Given the description of an element on the screen output the (x, y) to click on. 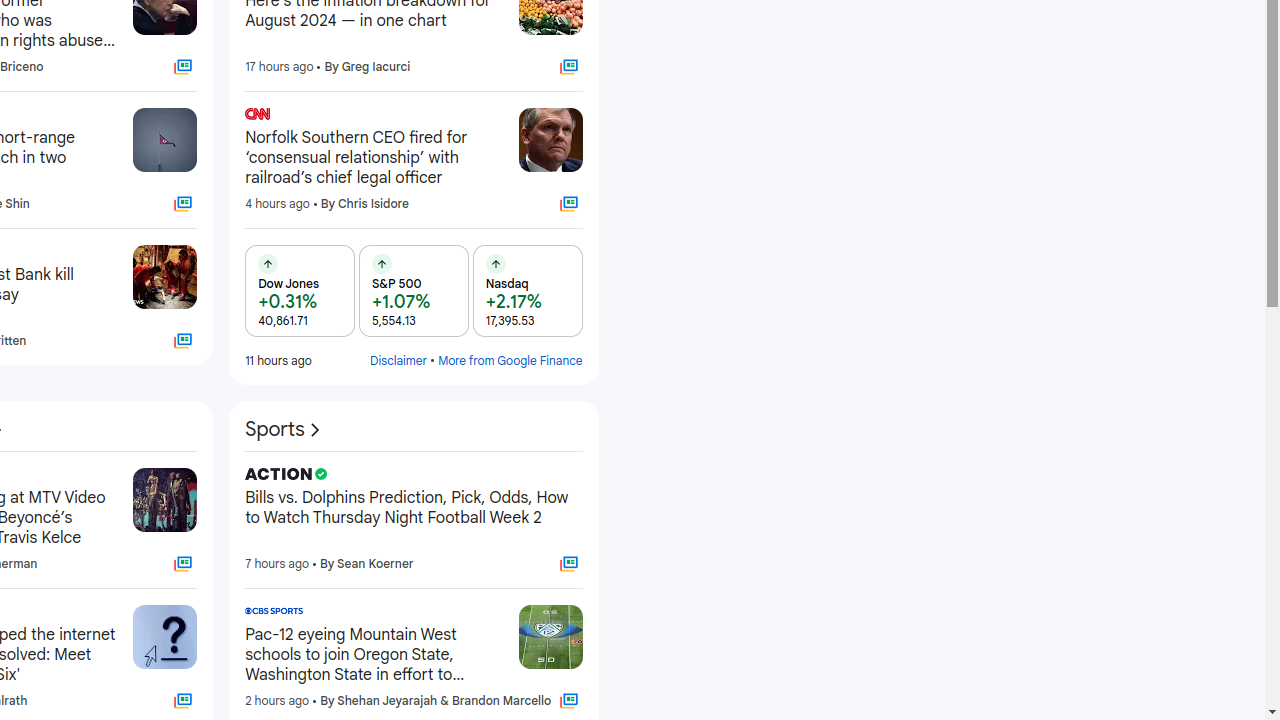
More - Norfolk Southern CEO fired for ‘consensual relationship’ with railroad’s chief legal officer Element type: push-button (496, 117)
Sports Element type: link (285, 430)
Norfolk Southern CEO fired for ‘consensual relationship’ with railroad’s chief legal officer Element type: link (374, 158)
S&P 500 +1.07% 5,554.13 Element type: link (413, 291)
More from Google Finance Element type: link (510, 360)
